Given the description of an element on the screen output the (x, y) to click on. 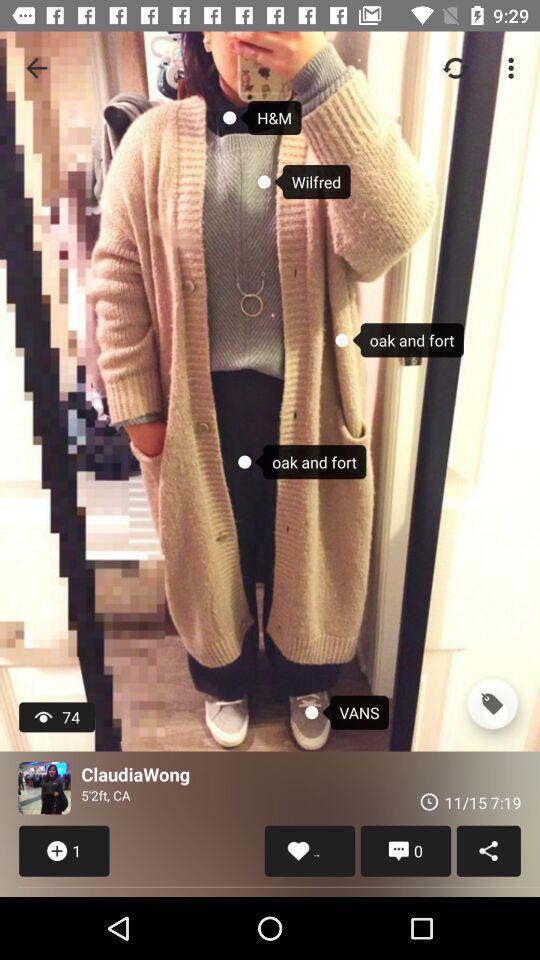
open the icon to the right of h&m item (455, 67)
